Given the description of an element on the screen output the (x, y) to click on. 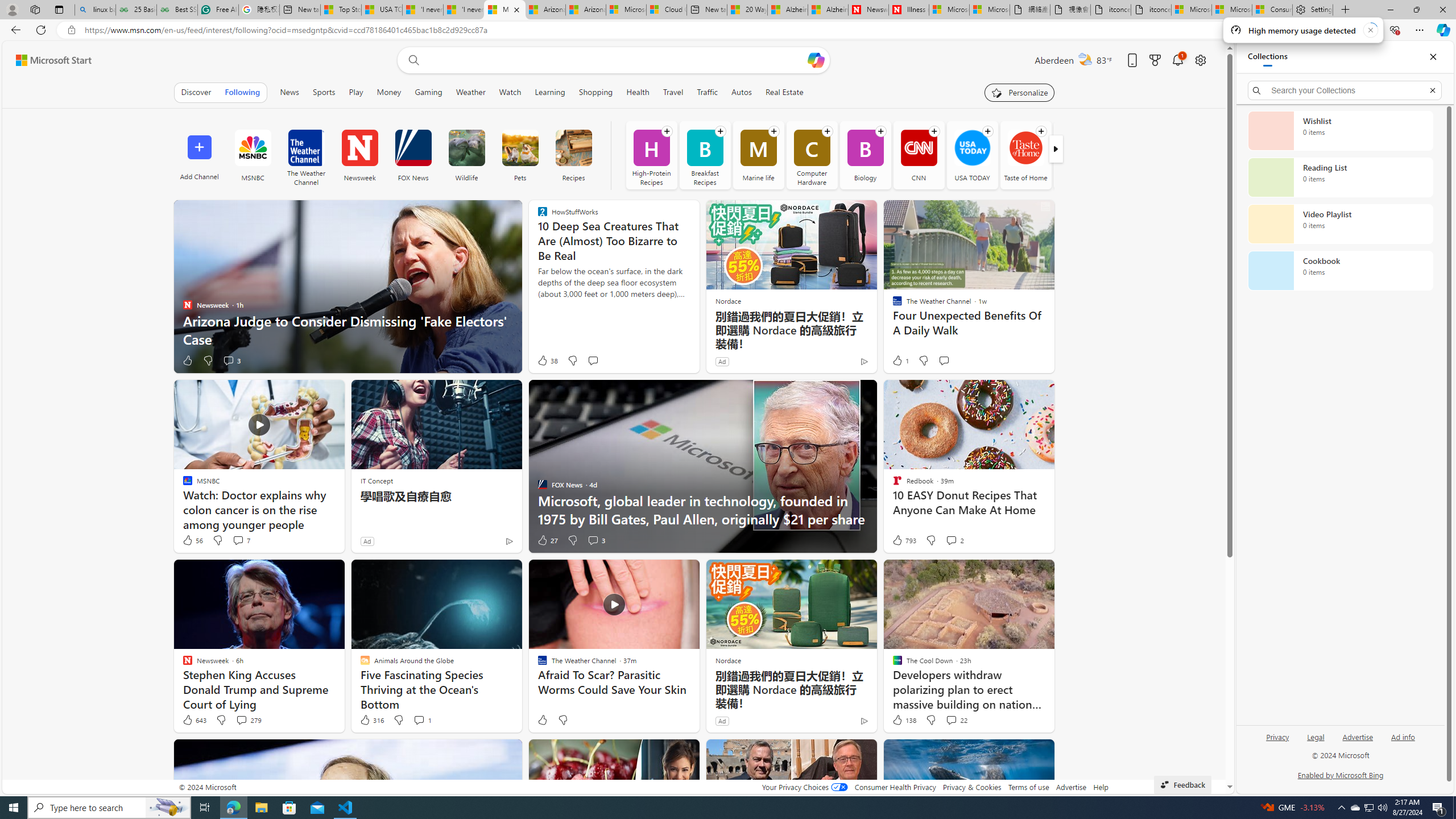
MSNBC (252, 147)
Microsoft Services Agreement (625, 9)
FOX News (412, 147)
IT Concept (376, 479)
Top Stories - MSN (340, 9)
Open settings (1199, 60)
High-Protein Recipes (651, 155)
Terms of use (1028, 786)
Sports (323, 92)
Your Privacy Choices (804, 786)
View comments 1 Comment (421, 719)
